Given the description of an element on the screen output the (x, y) to click on. 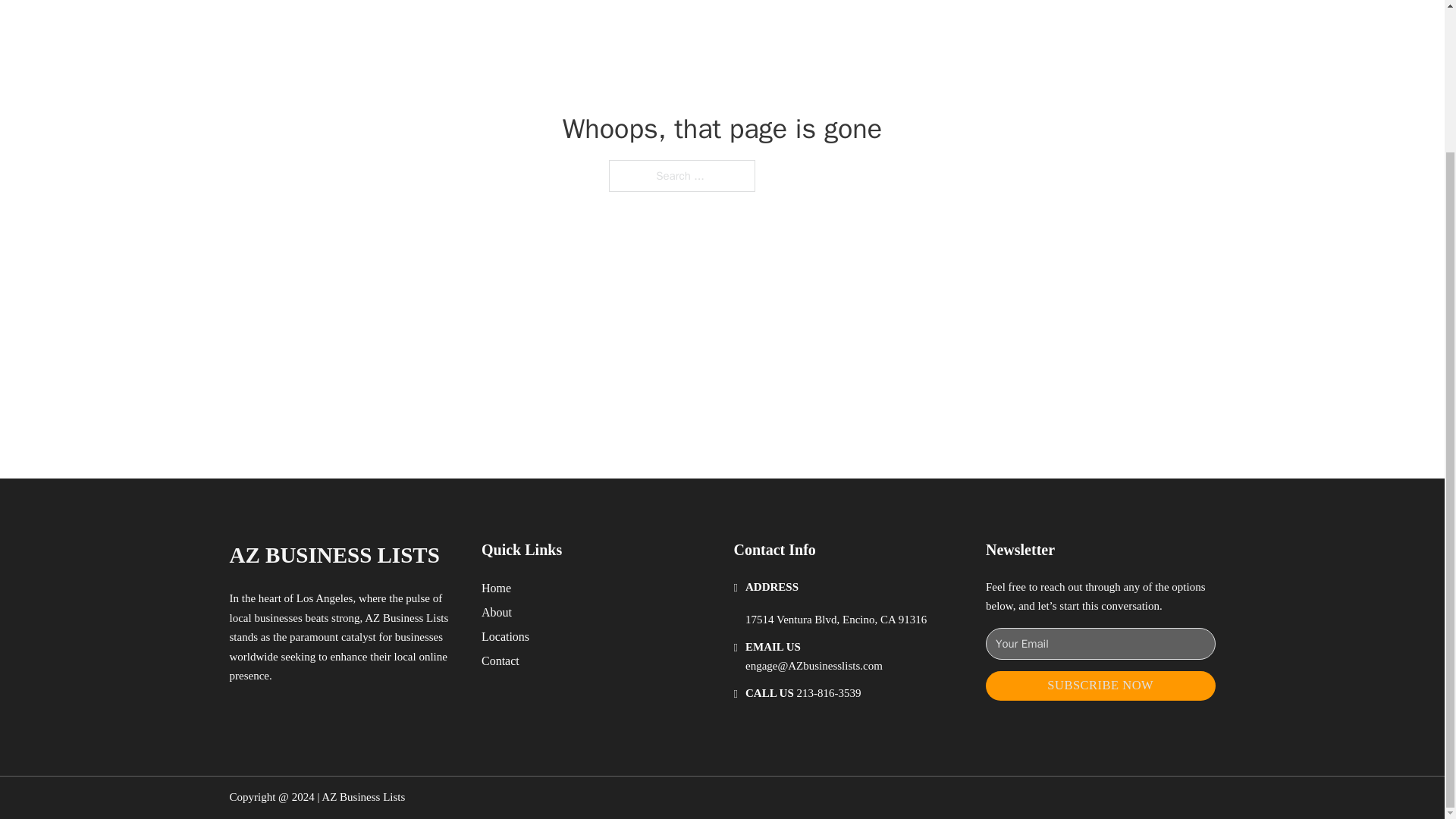
Locations (505, 636)
About (496, 611)
213-816-3539 (828, 693)
Home (496, 588)
AZ BUSINESS LISTS (333, 555)
SUBSCRIBE NOW (1100, 685)
Contact (500, 660)
